Given the description of an element on the screen output the (x, y) to click on. 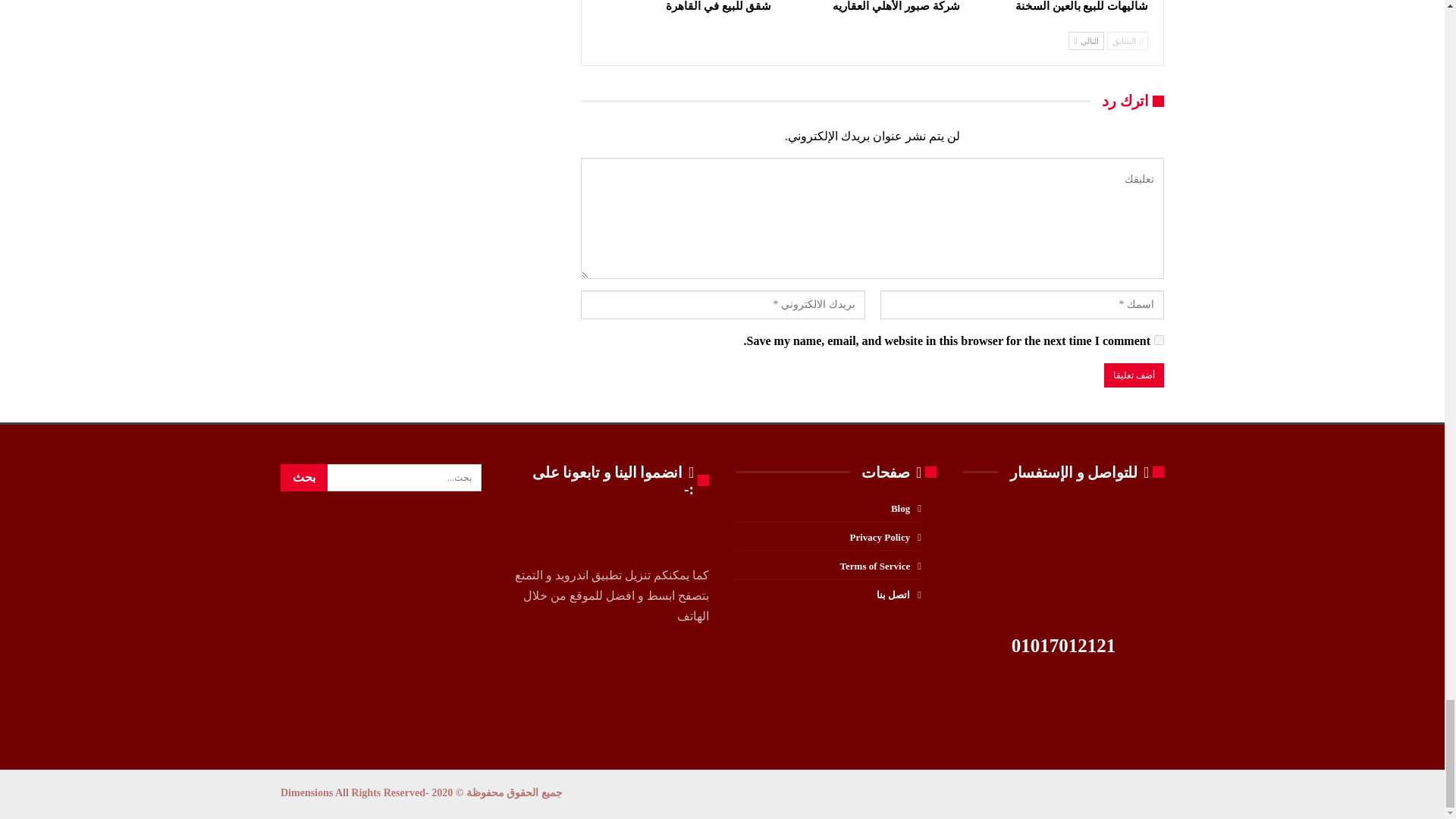
yes (1158, 339)
